Given the description of an element on the screen output the (x, y) to click on. 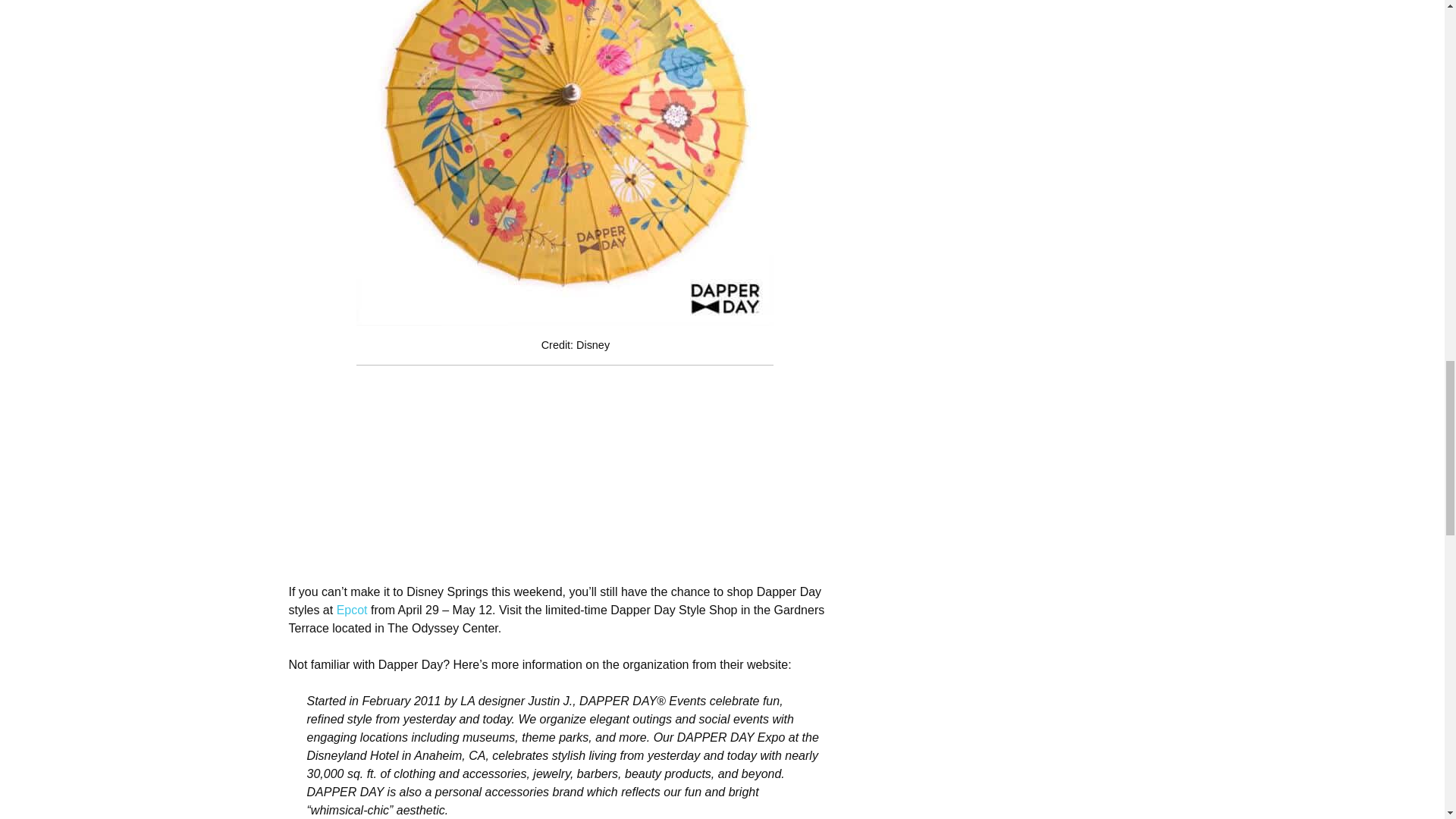
Epcot (352, 609)
